Given the description of an element on the screen output the (x, y) to click on. 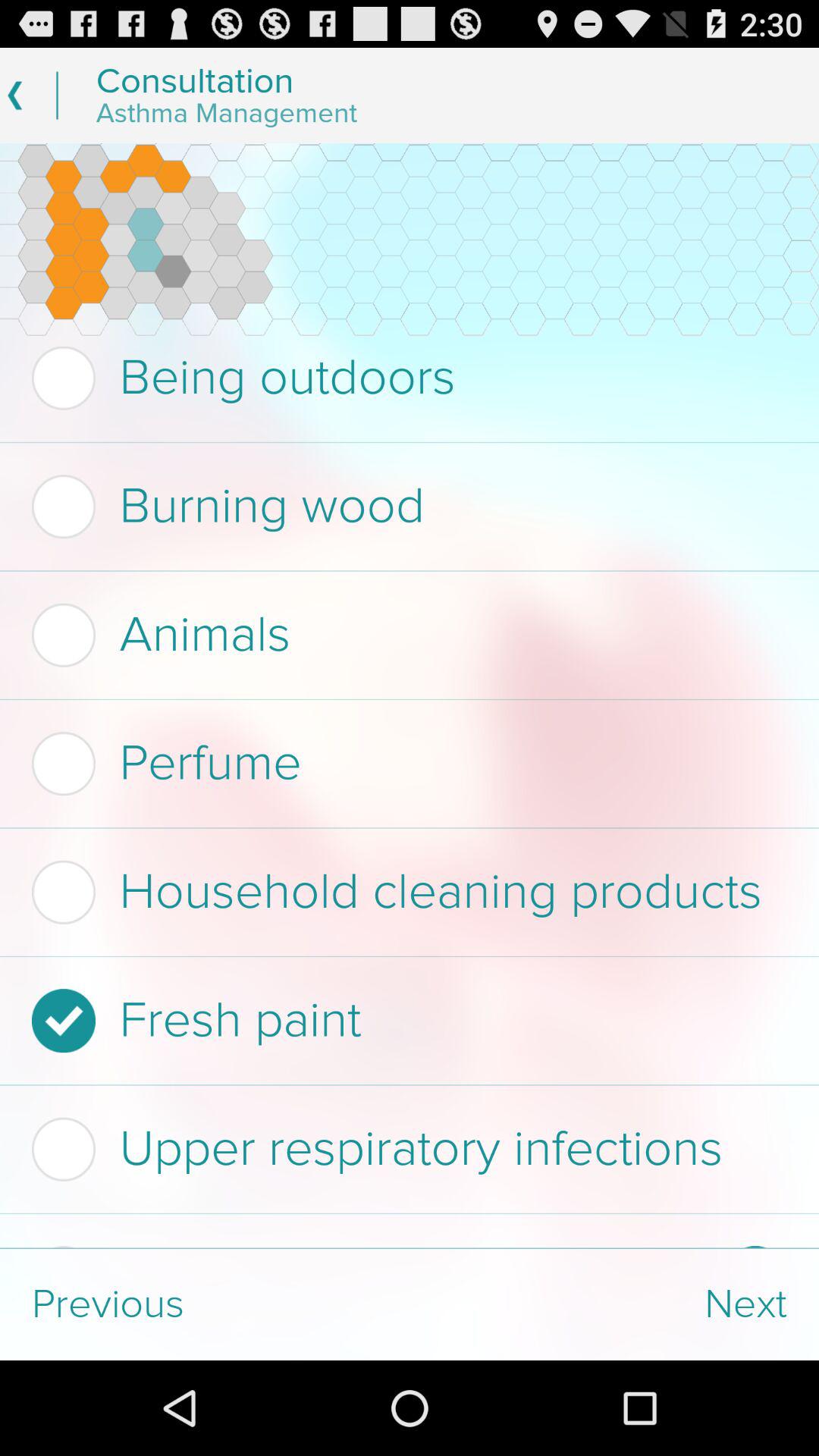
choose item at the bottom left corner (204, 1304)
